Given the description of an element on the screen output the (x, y) to click on. 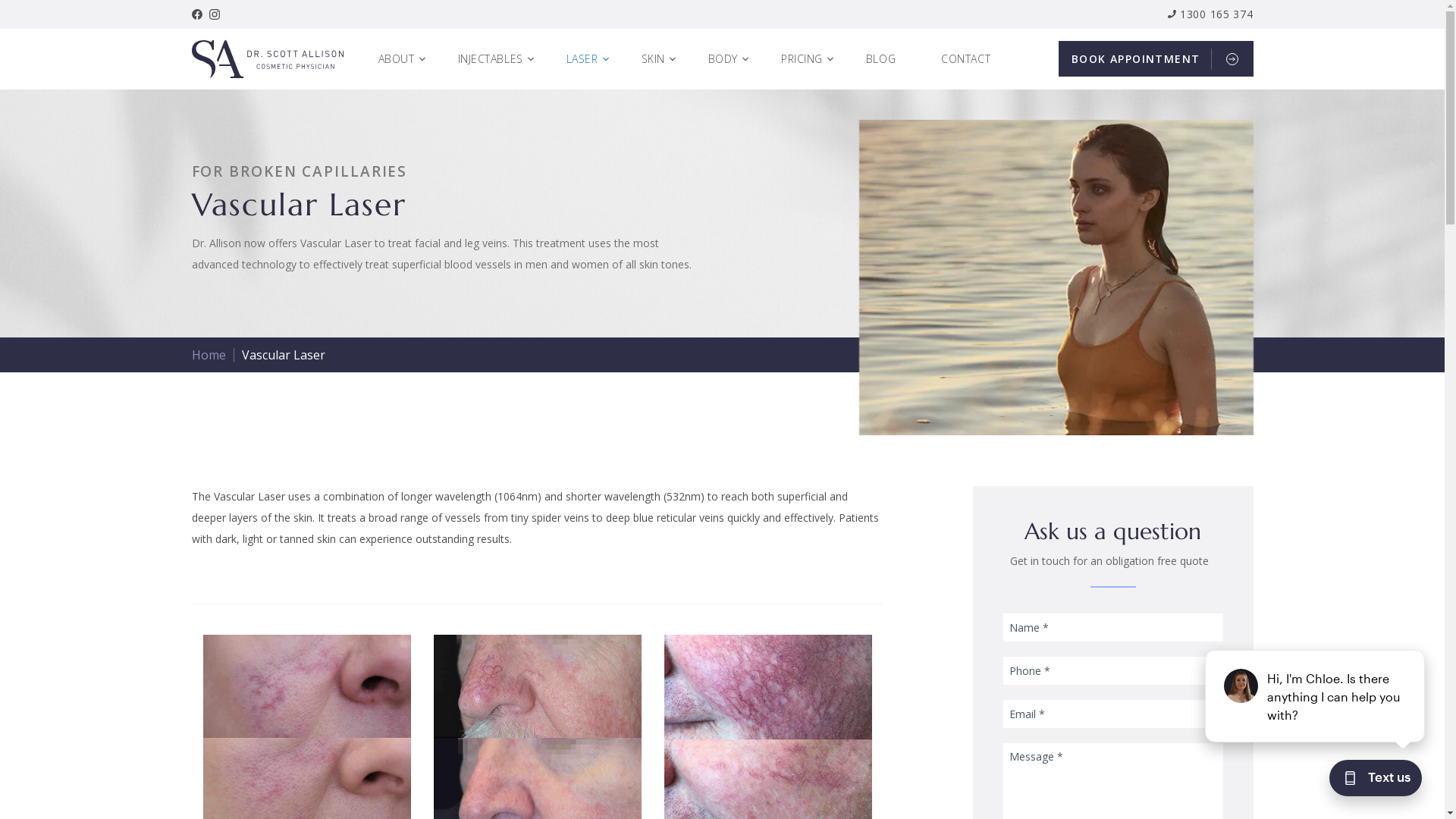
BOOK APPOINTMENT Element type: text (1155, 58)
CONTACT Element type: text (973, 58)
1300 165 374 Element type: text (1209, 13)
LASER Element type: text (588, 58)
BLOG Element type: text (888, 58)
PRICING Element type: text (808, 58)
INJECTABLES Element type: text (497, 58)
ABOUT Element type: text (402, 58)
SKIN Element type: text (659, 58)
podium webchat widget prompt Element type: hover (1315, 696)
BODY Element type: text (729, 58)
Home Element type: text (208, 354)
